Given the description of an element on the screen output the (x, y) to click on. 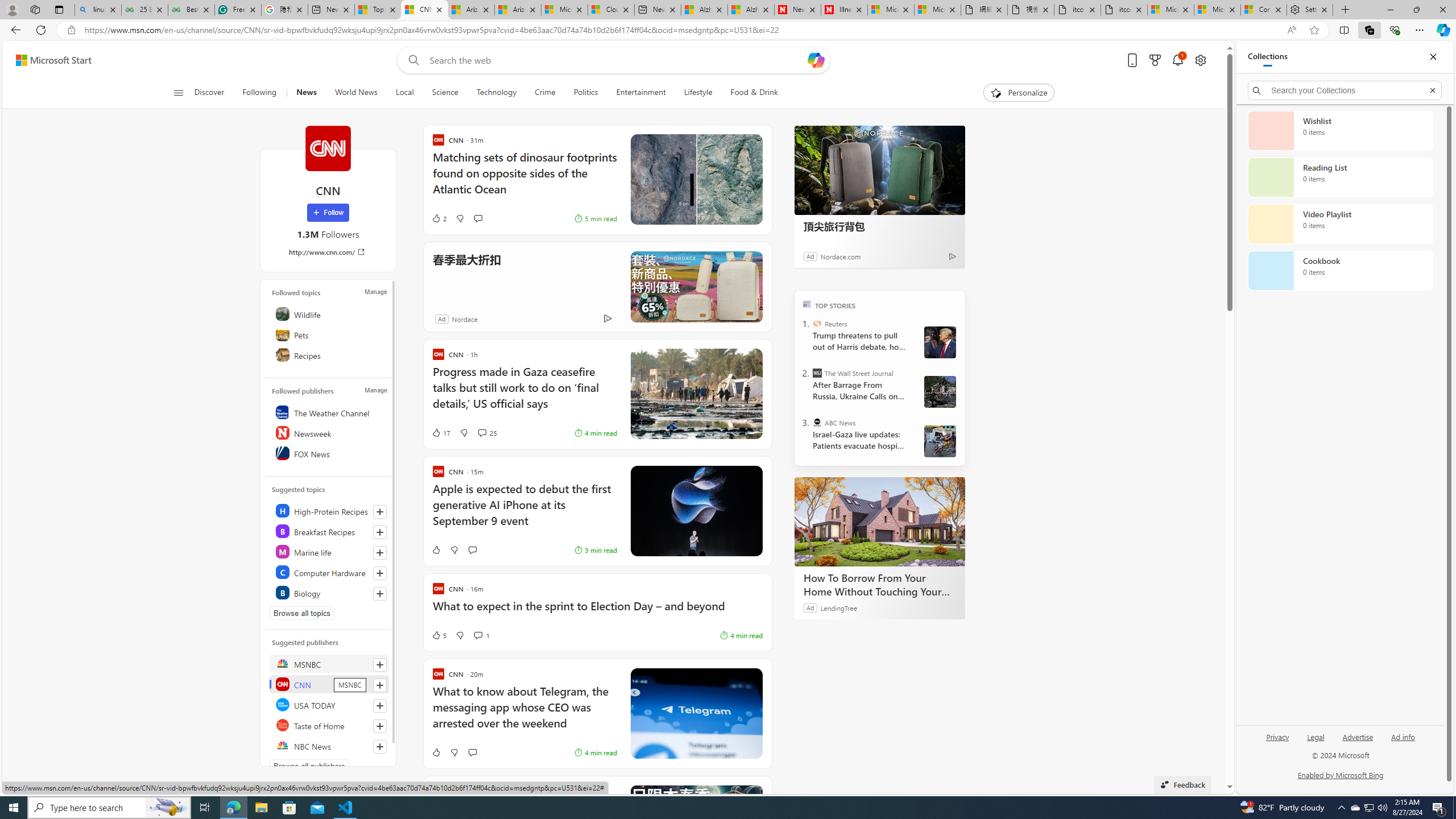
The Wall Street Journal (816, 372)
USA TODAY (328, 704)
TOP (806, 302)
Cloud Computing Services | Microsoft Azure (610, 9)
itconcepthk.com/projector_solutions.mp4 (1123, 9)
Cookbook collection, 0 items (1339, 270)
